Given the description of an element on the screen output the (x, y) to click on. 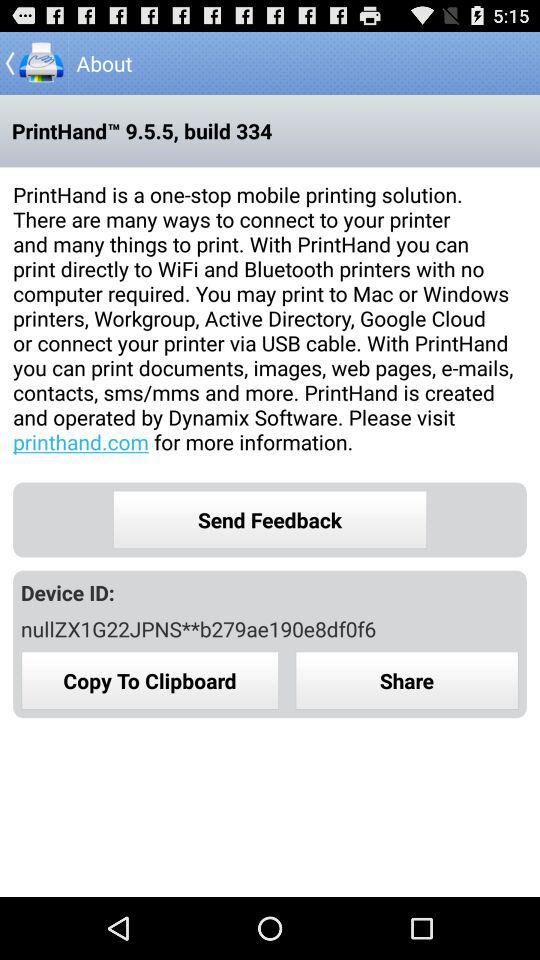
press the item to the left of the share icon (150, 680)
